Given the description of an element on the screen output the (x, y) to click on. 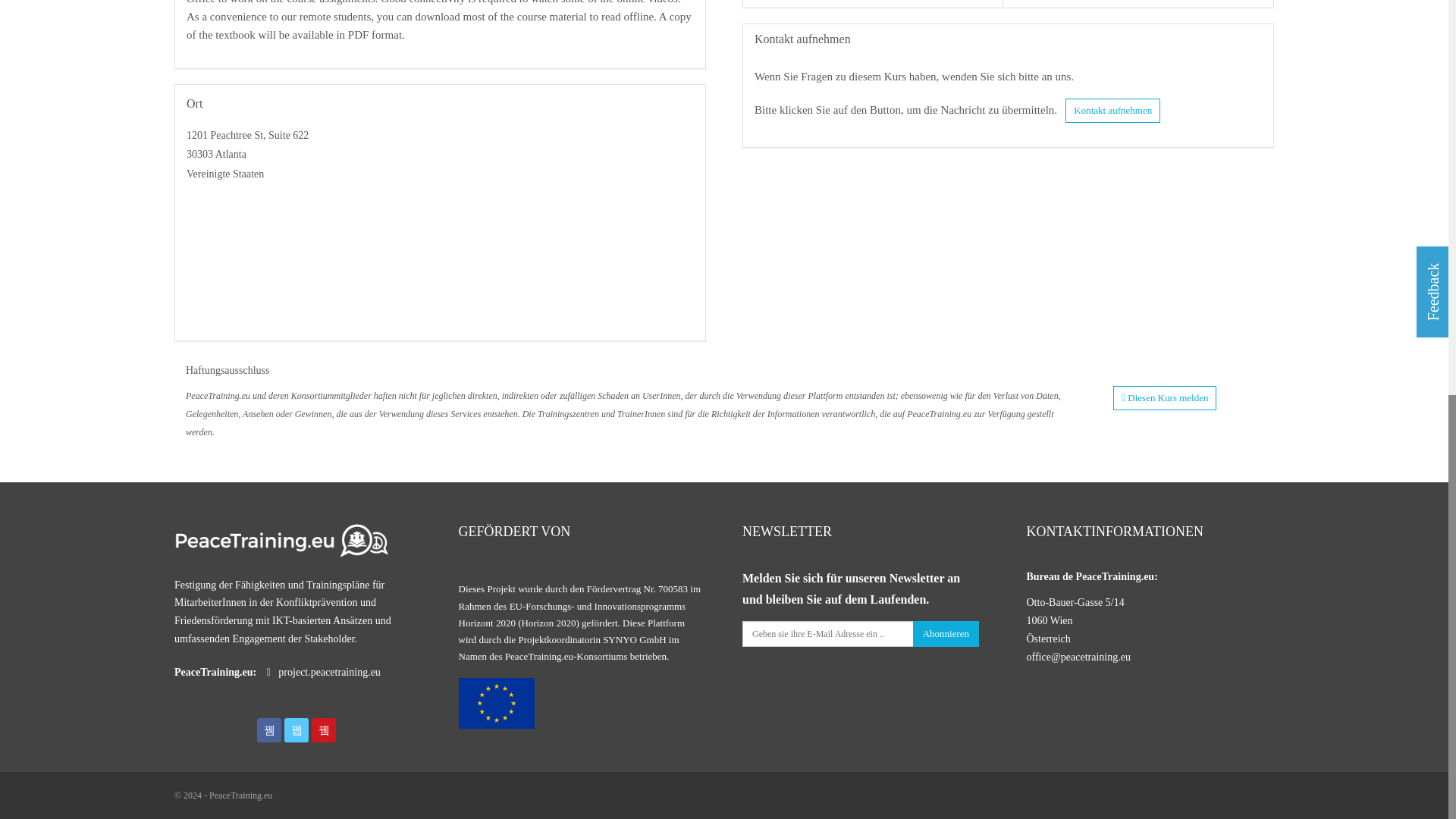
Report (1164, 397)
Contact (1112, 110)
